Given the description of an element on the screen output the (x, y) to click on. 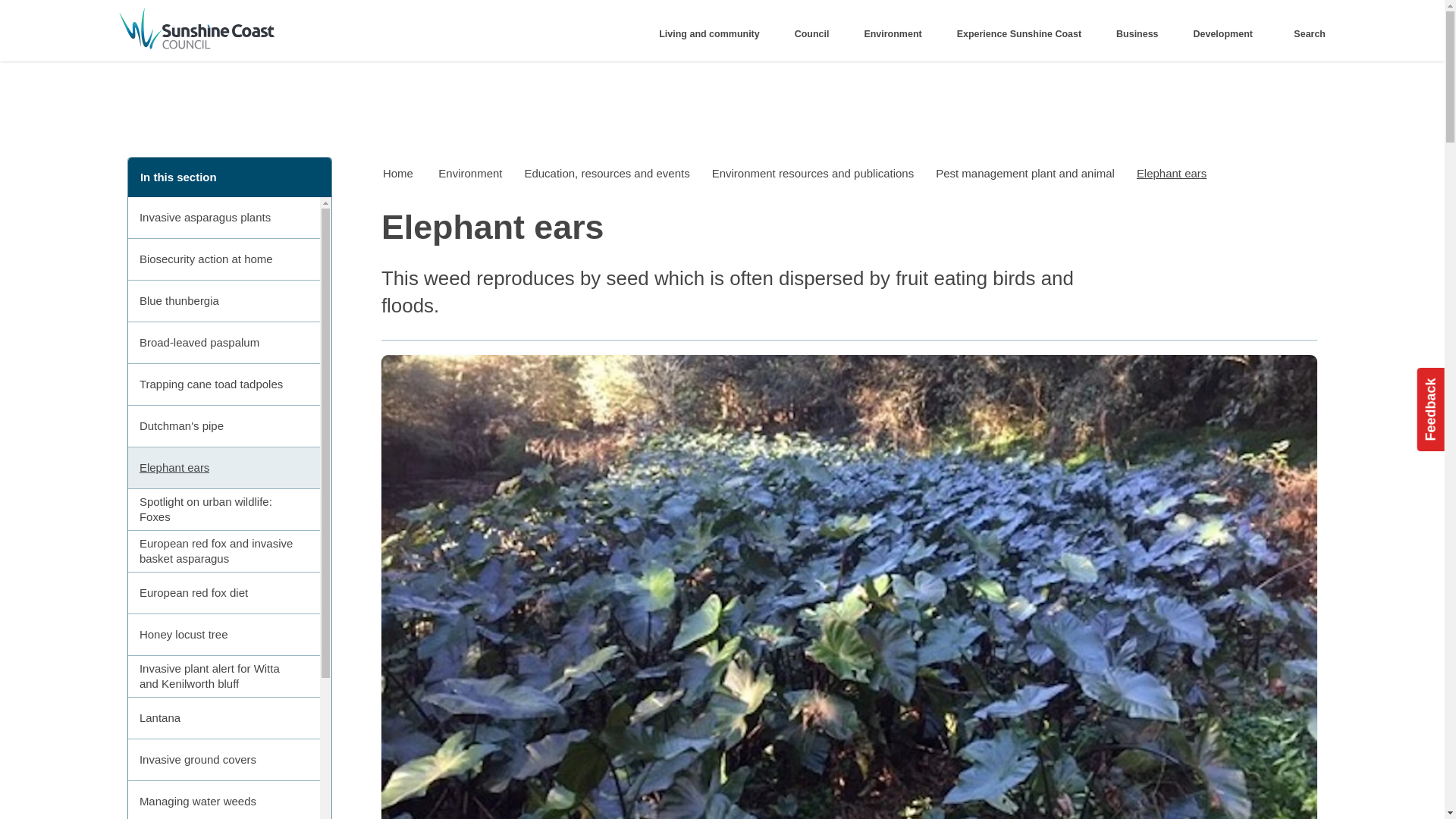
Environment (897, 34)
Experience Sunshine Coast (1023, 34)
Council (815, 34)
Development (1227, 34)
Search Sunshine Coast Council website (1306, 34)
Search (1306, 34)
Living and community (713, 34)
Council (815, 34)
Living and community (713, 34)
Environment (897, 34)
